Given the description of an element on the screen output the (x, y) to click on. 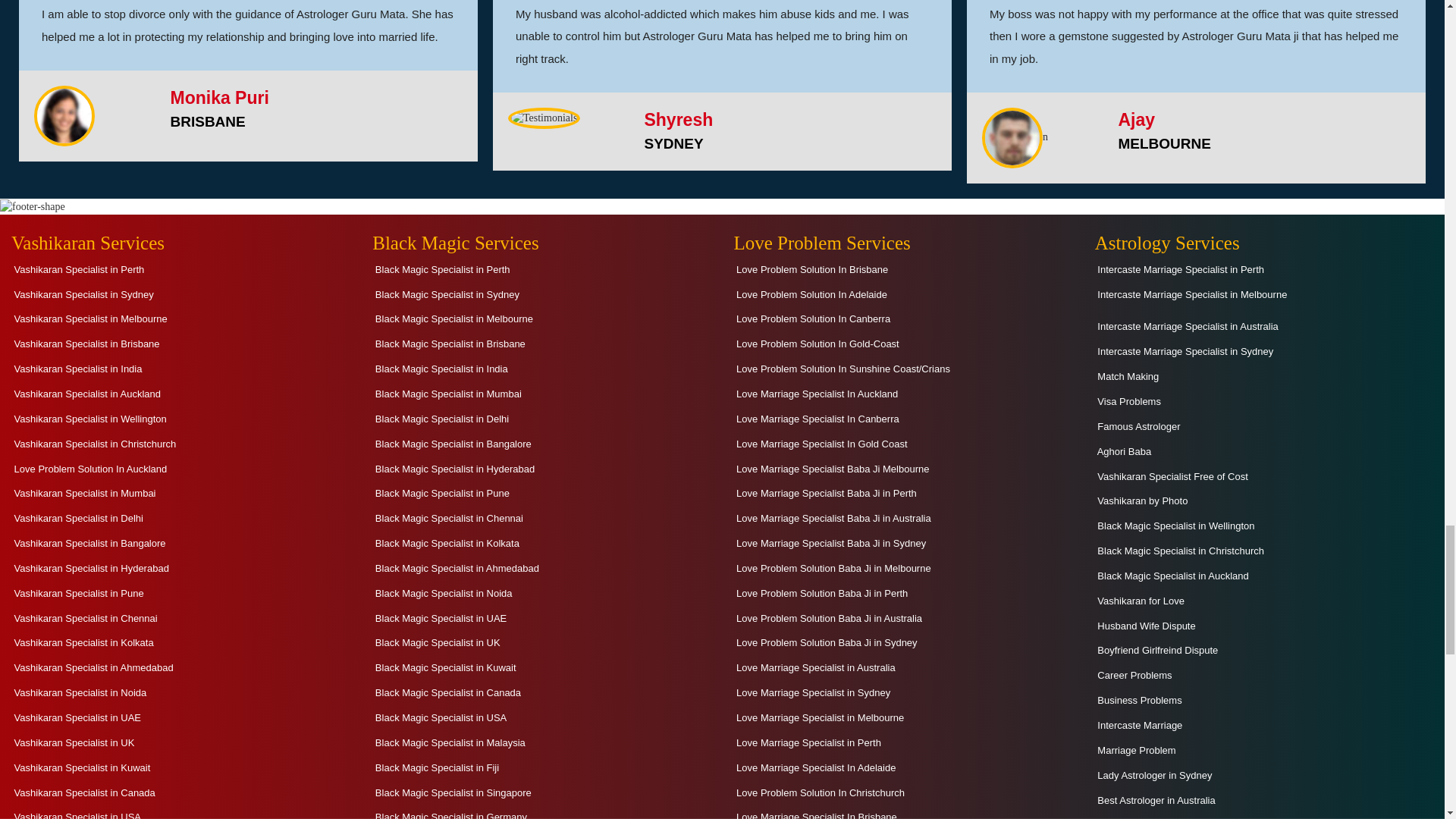
 Vashikaran Specialist in Kuwait (80, 767)
Vashikaran Specialist in Melbourne (89, 318)
 Vashikaran Specialist in Chennai (84, 618)
 Vashikaran Specialist in Auckland (85, 393)
Black Magic Specialist in Brisbane (448, 343)
 Vashikaran Specialist in Kolkata (82, 642)
Vashikaran Specialist in Brisbane (85, 343)
 Vashikaran Specialist in Bangalore (88, 542)
 Vashikaran Specialist in USA (76, 813)
 Vashikaran Specialist in Hyderabad (89, 568)
 Vashikaran Specialist in UK (72, 742)
 Vashikaran Specialist in Canada (83, 791)
 Love Problem Solution In Auckland (89, 468)
Black Magic Specialist in Sydney (445, 294)
 Vashikaran Specialist in Delhi (76, 517)
